Given the description of an element on the screen output the (x, y) to click on. 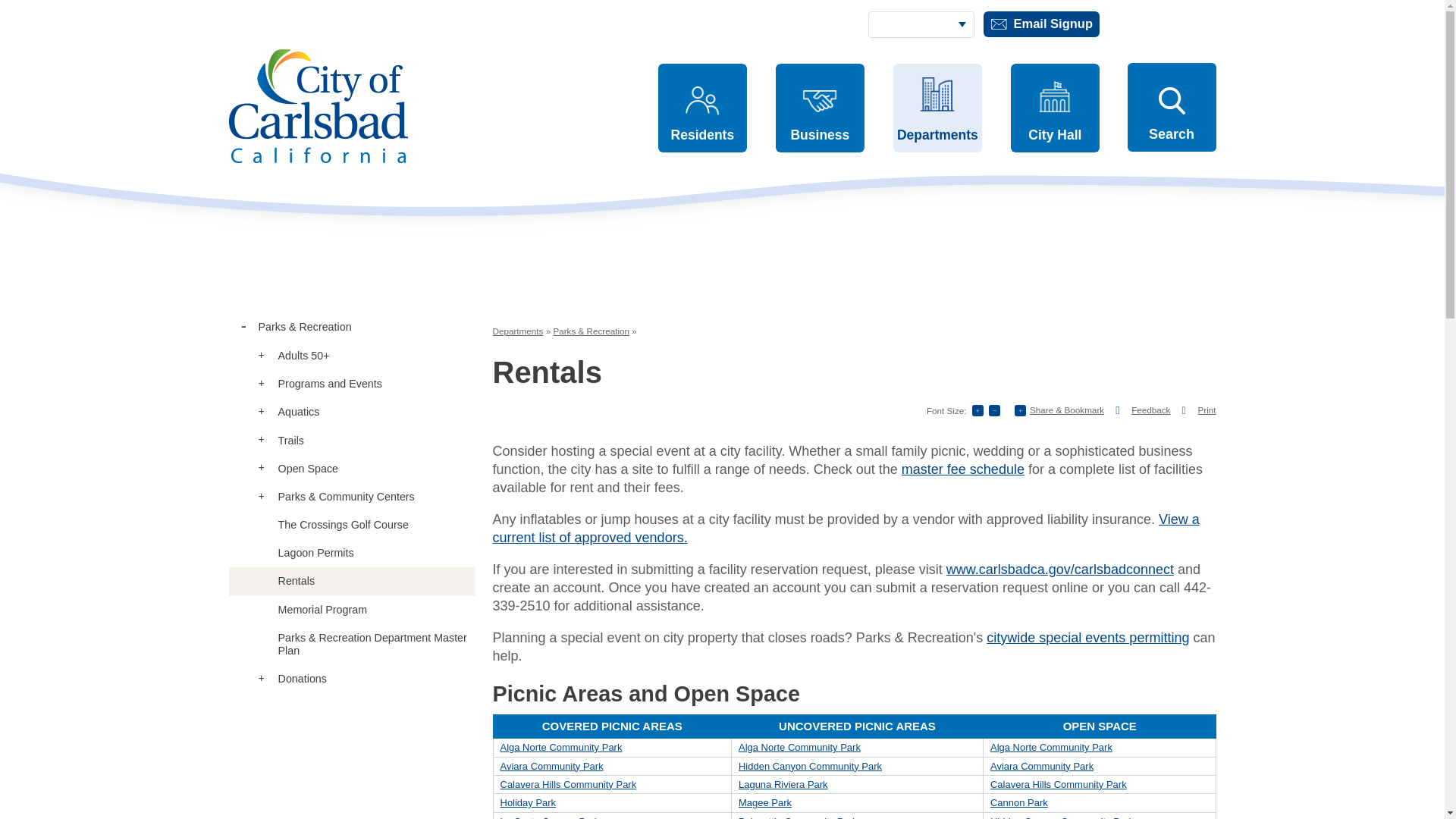
Search (1170, 107)
Residents (702, 107)
Email Signup (1040, 23)
Home (317, 106)
Residents (702, 107)
